Given the description of an element on the screen output the (x, y) to click on. 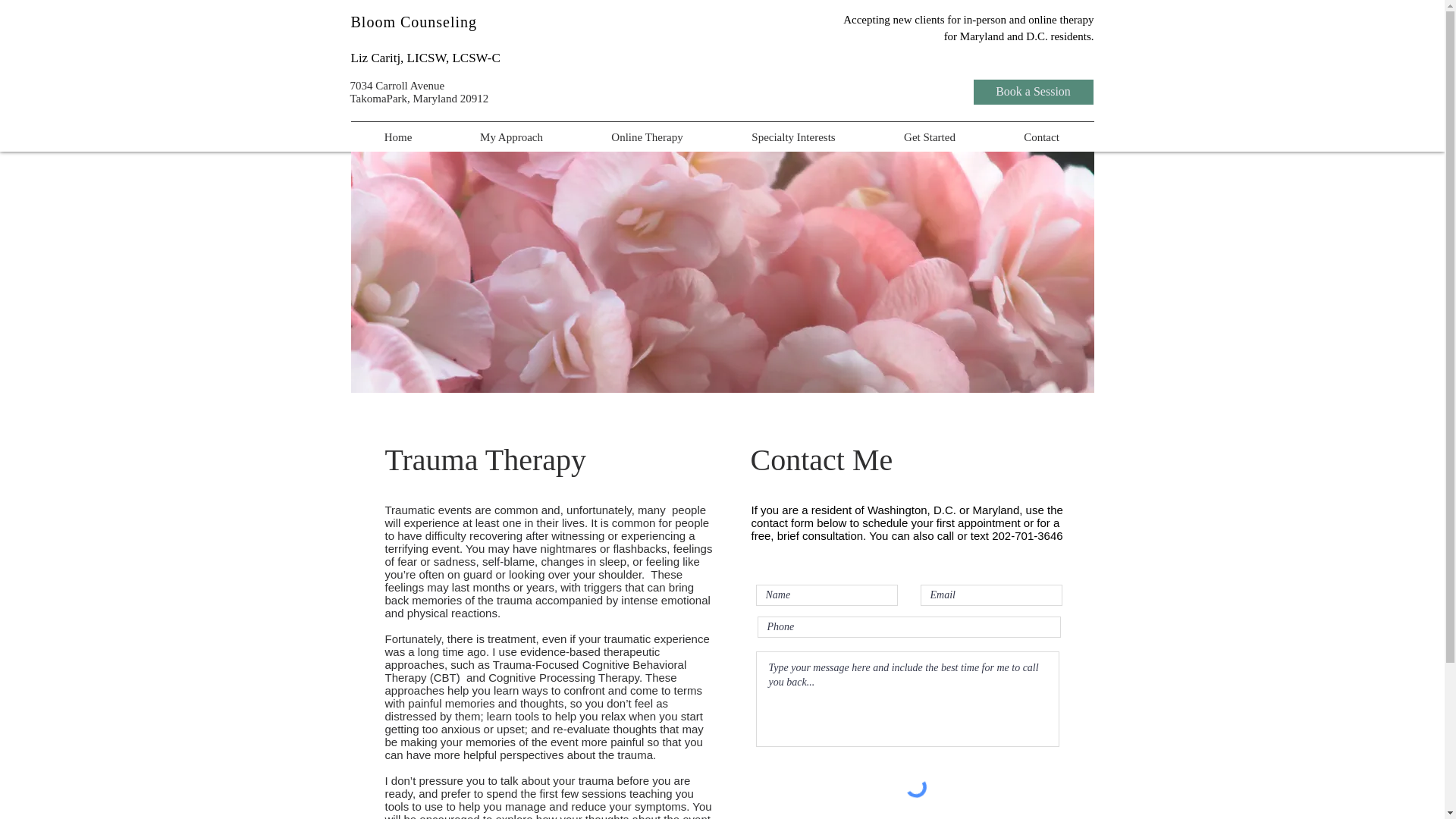
Contact (1041, 136)
Liz Caritj, LICSW, LCSW-C (424, 57)
My Approach (510, 136)
Bloom Counseling (413, 21)
Online Therapy (646, 136)
Home (398, 136)
Book a Session (1033, 91)
Get Started (929, 136)
